Given the description of an element on the screen output the (x, y) to click on. 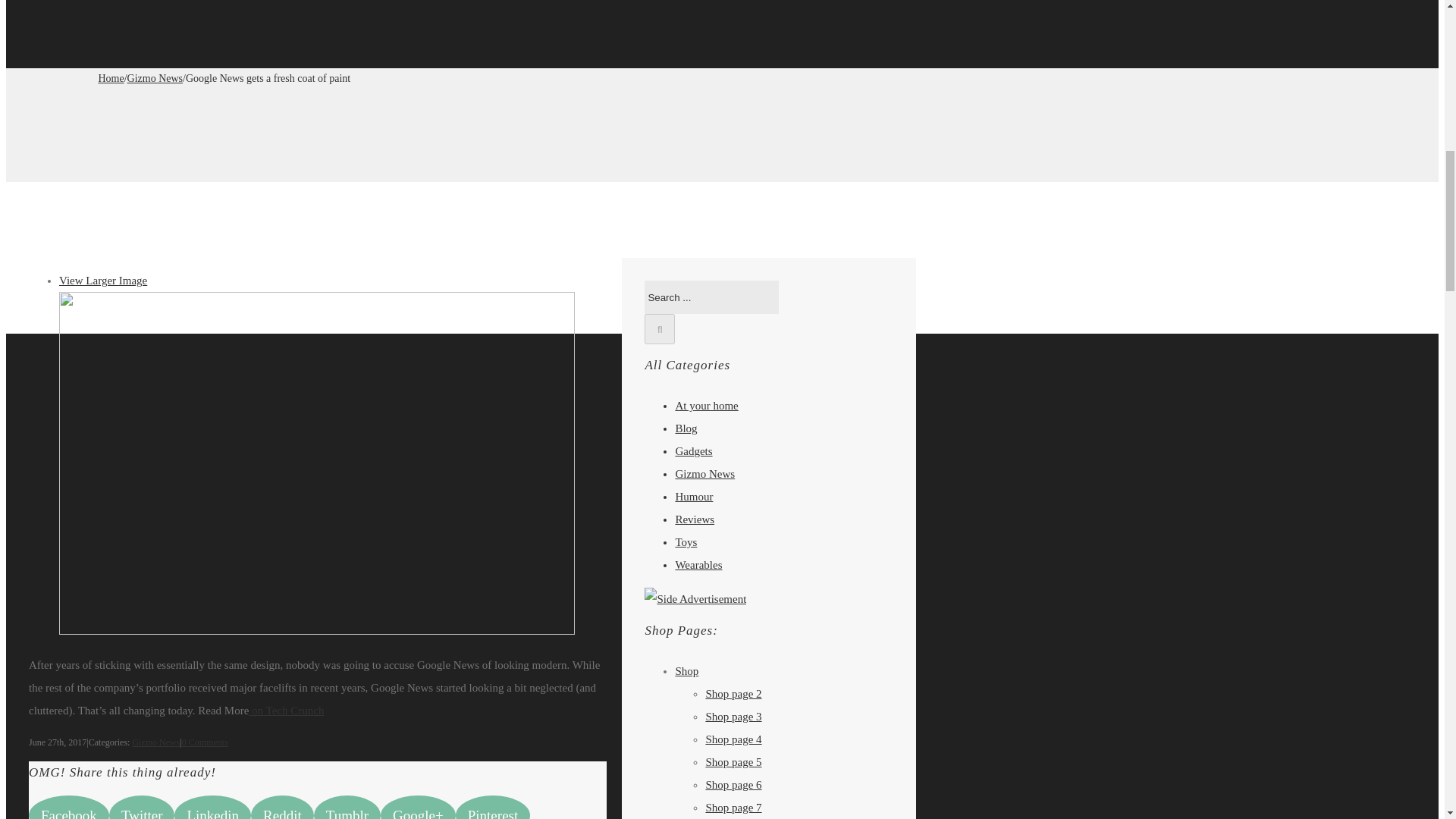
Home (110, 78)
on Tech Crunch (285, 710)
Gizmo News (155, 742)
Tumblr (347, 807)
Linkedin (212, 807)
Twitter (141, 807)
Pinterest (493, 807)
0 Comments (205, 742)
Pinterest (493, 807)
